Given the description of an element on the screen output the (x, y) to click on. 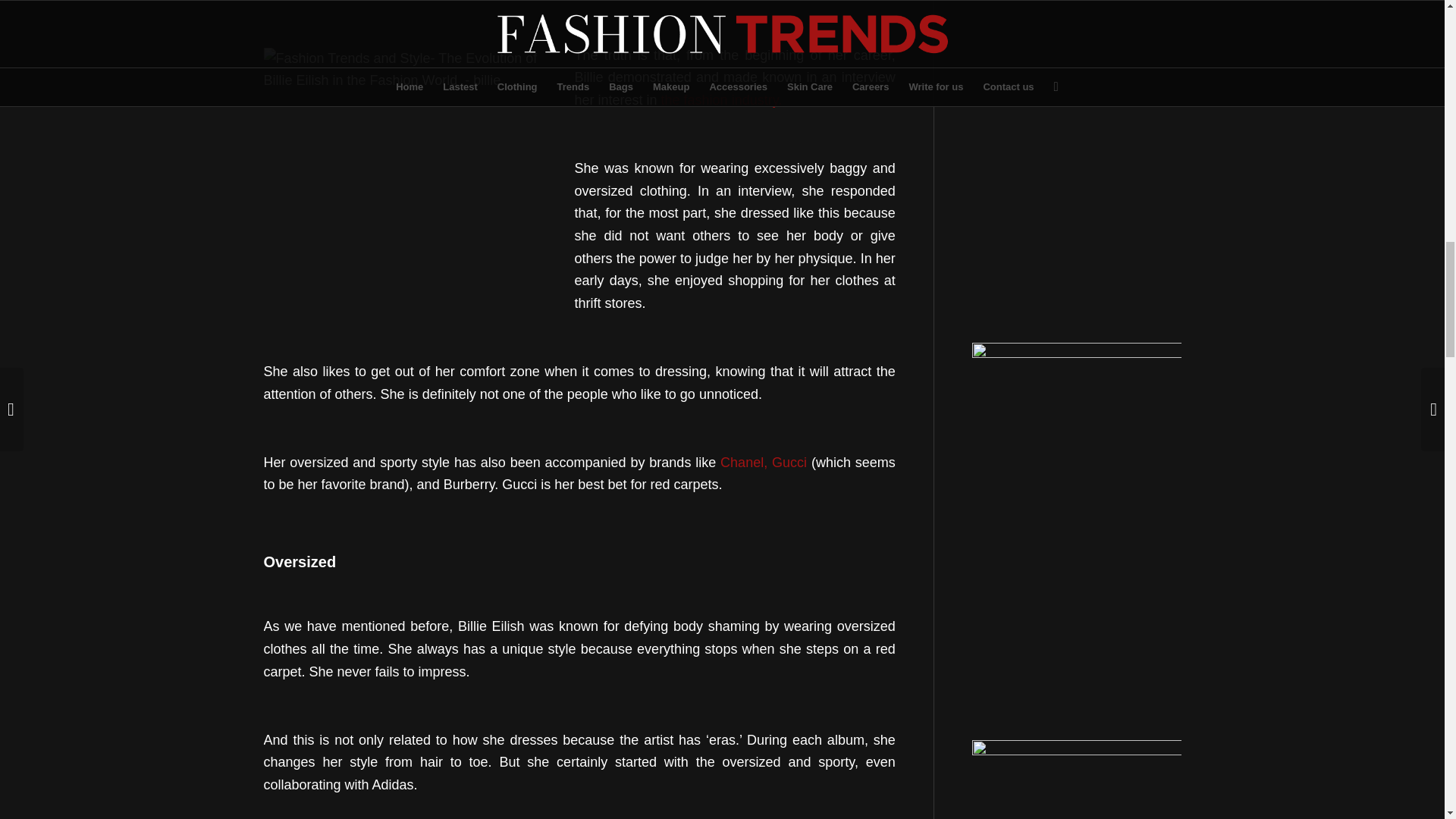
Meet the best handbag brands in the world (788, 462)
the fashion industry. (722, 99)
Gucci (788, 462)
Chanel, (743, 462)
Learn how to dress fashionably but elegantly (722, 99)
